Given the description of an element on the screen output the (x, y) to click on. 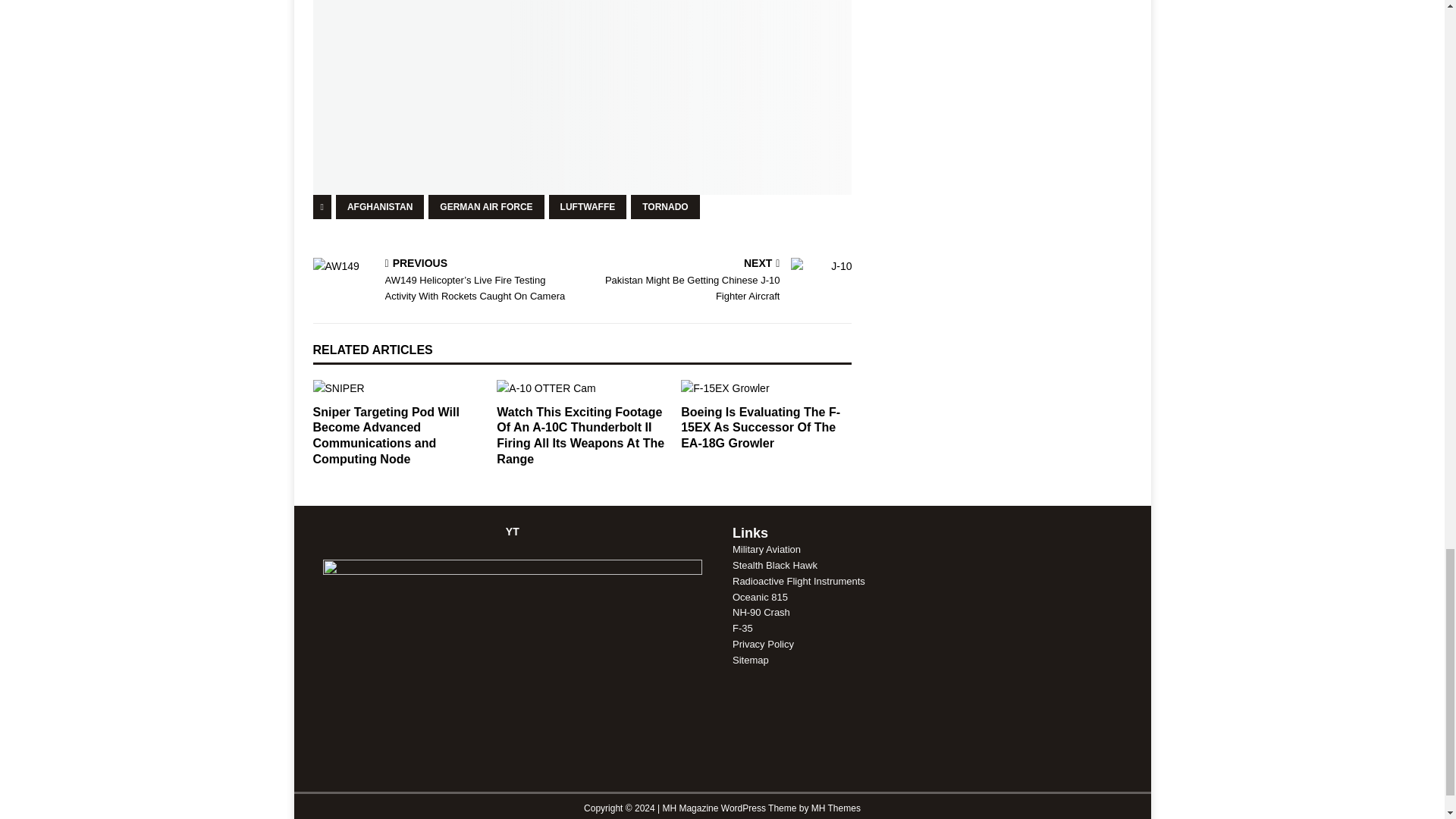
TORNADO (664, 206)
GERMAN AIR FORCE (485, 206)
AFGHANISTAN (720, 280)
LUFTWAFFE (379, 206)
